Given the description of an element on the screen output the (x, y) to click on. 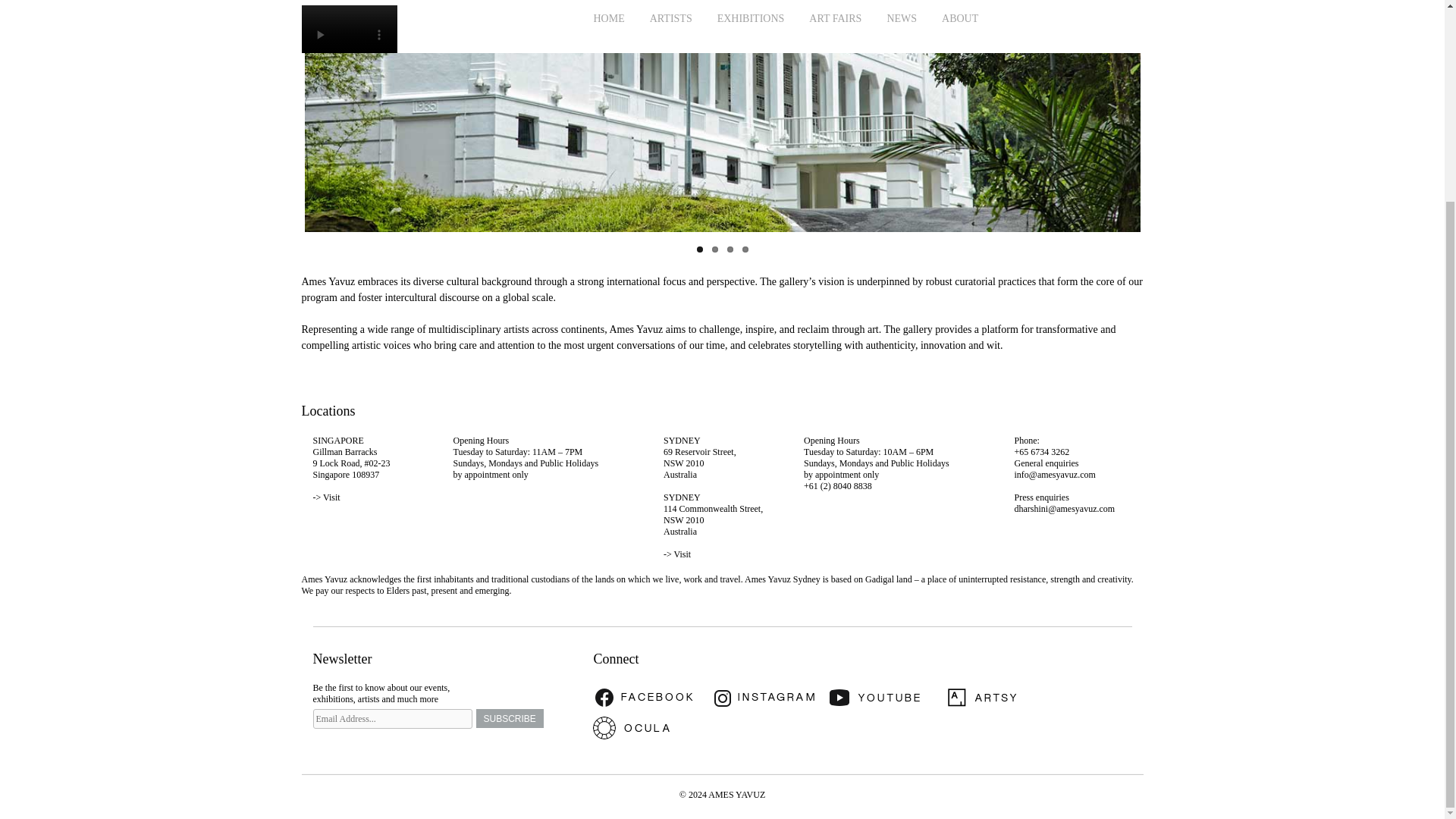
2 (714, 249)
Subscribe (509, 718)
Visit (682, 553)
Ocula (649, 727)
Facebook (649, 697)
4 (744, 249)
Visit (331, 497)
youtube (885, 697)
artsy (1001, 697)
3 (729, 249)
instagram (767, 697)
Subscribe (509, 718)
1 (698, 249)
